Given the description of an element on the screen output the (x, y) to click on. 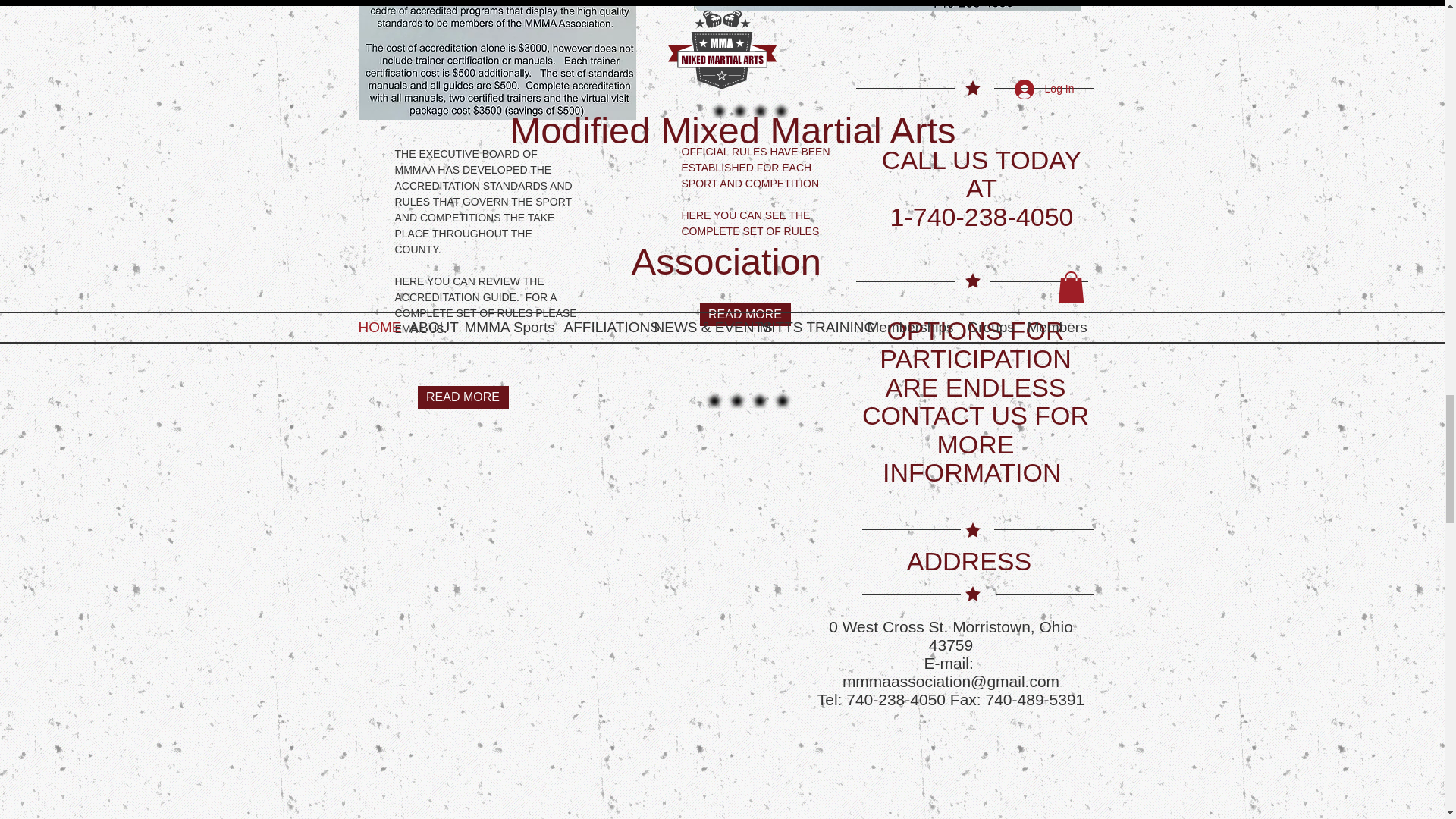
READ MORE (744, 314)
READ MORE (462, 396)
